Given the description of an element on the screen output the (x, y) to click on. 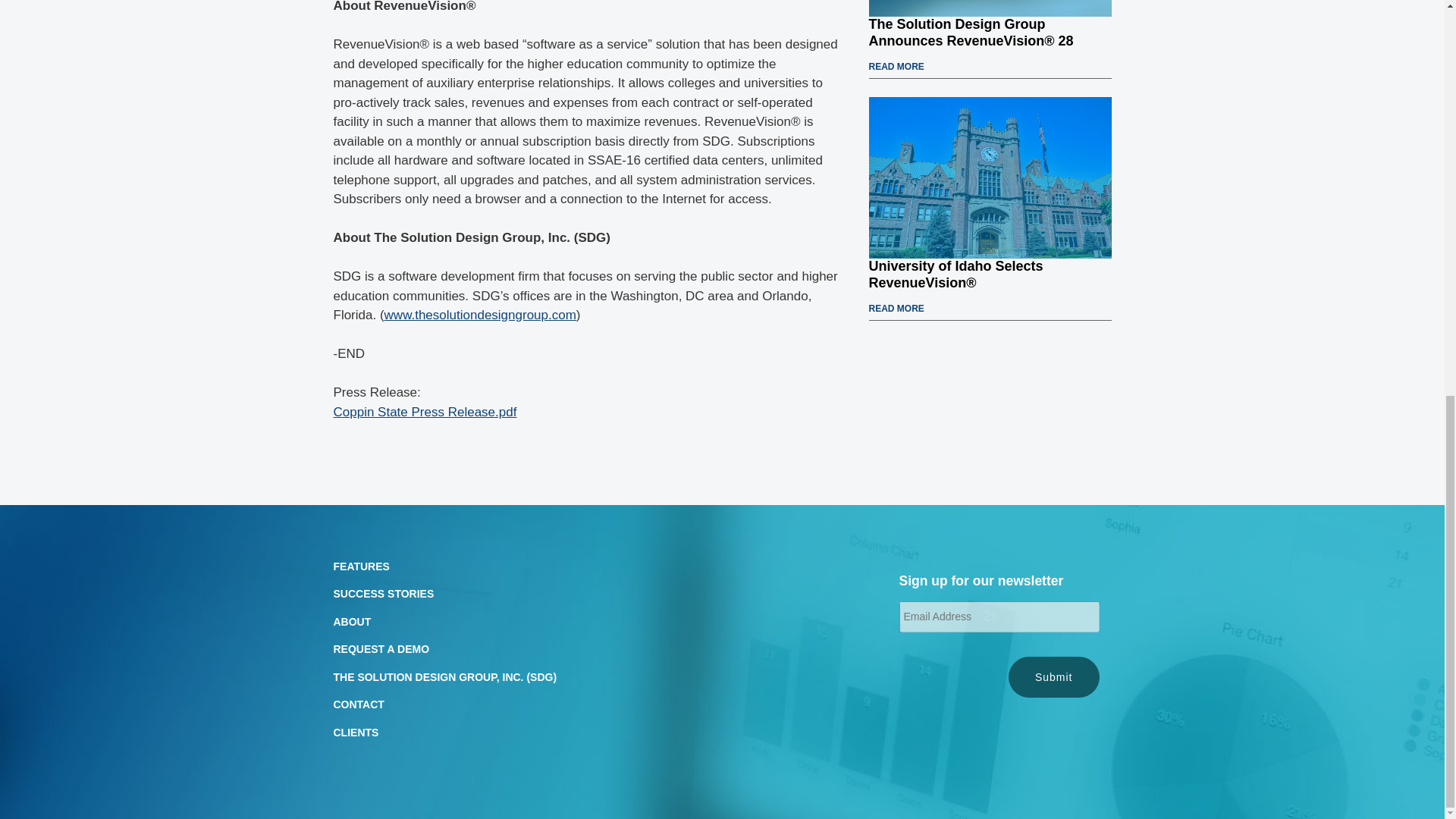
CONTACT (358, 704)
FEATURES (361, 566)
Submit (1054, 677)
Coppin State Press Release.pdf (424, 411)
READ MORE (896, 66)
READ MORE (896, 308)
REQUEST A DEMO (381, 648)
www.thesolutiondesigngroup.com (480, 314)
SUCCESS STORIES (383, 593)
Submit (1054, 677)
CLIENTS (355, 732)
ABOUT (352, 621)
